Given the description of an element on the screen output the (x, y) to click on. 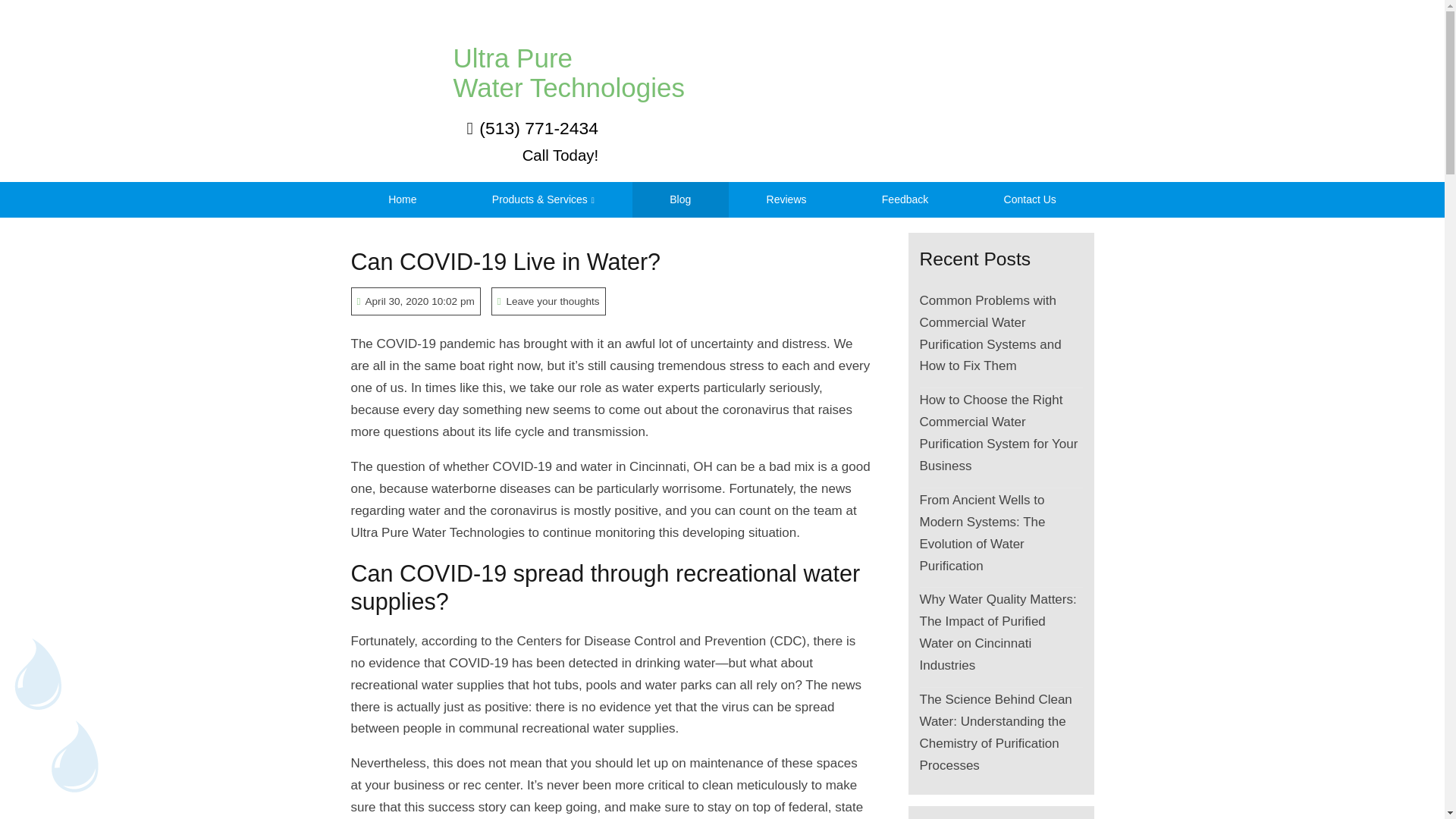
Can COVID-19 Live in Water? (505, 261)
Reviews (786, 199)
Blog (517, 55)
Feedback (680, 199)
Home (905, 199)
